Given the description of an element on the screen output the (x, y) to click on. 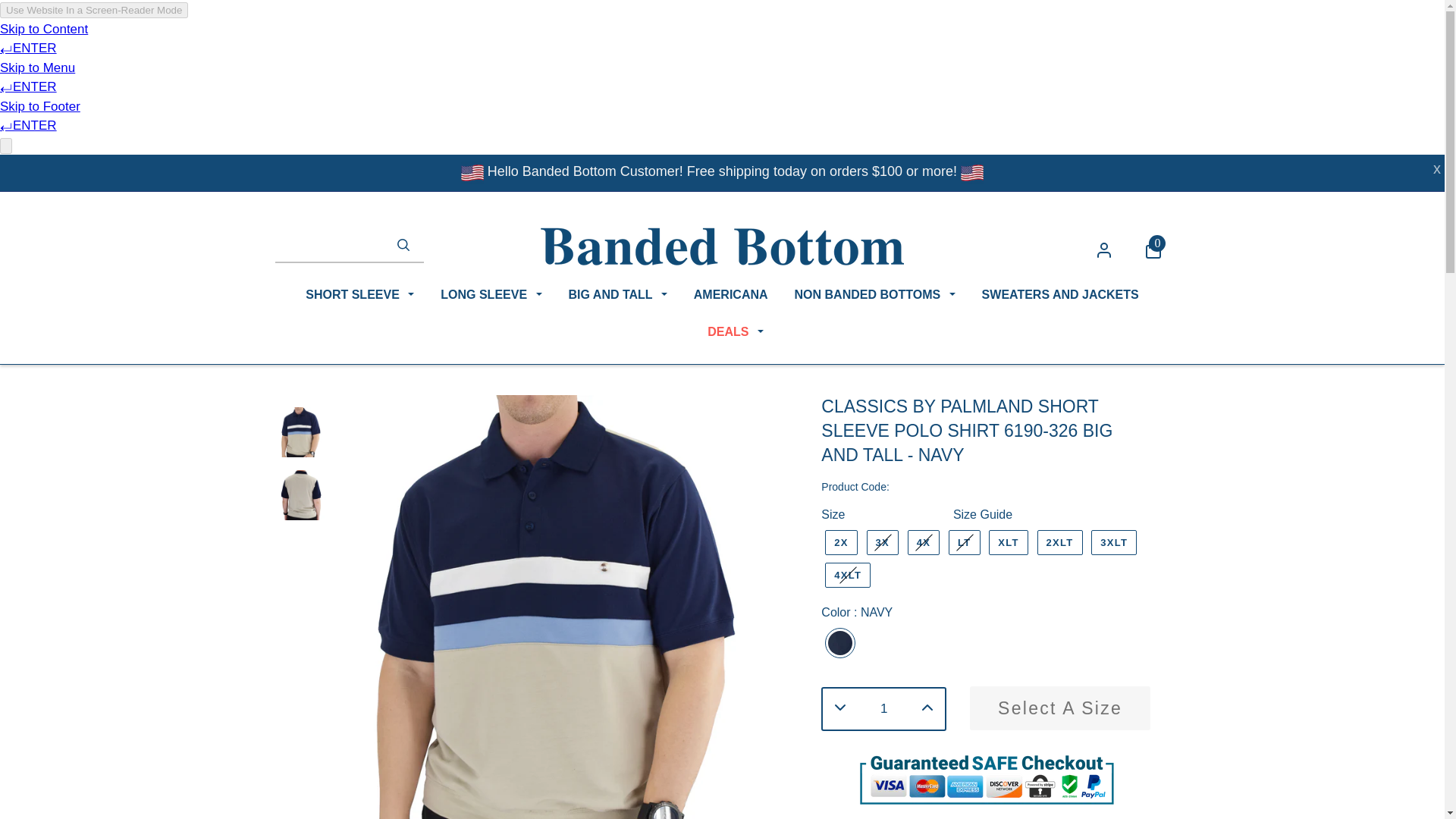
1 (883, 708)
